Given the description of an element on the screen output the (x, y) to click on. 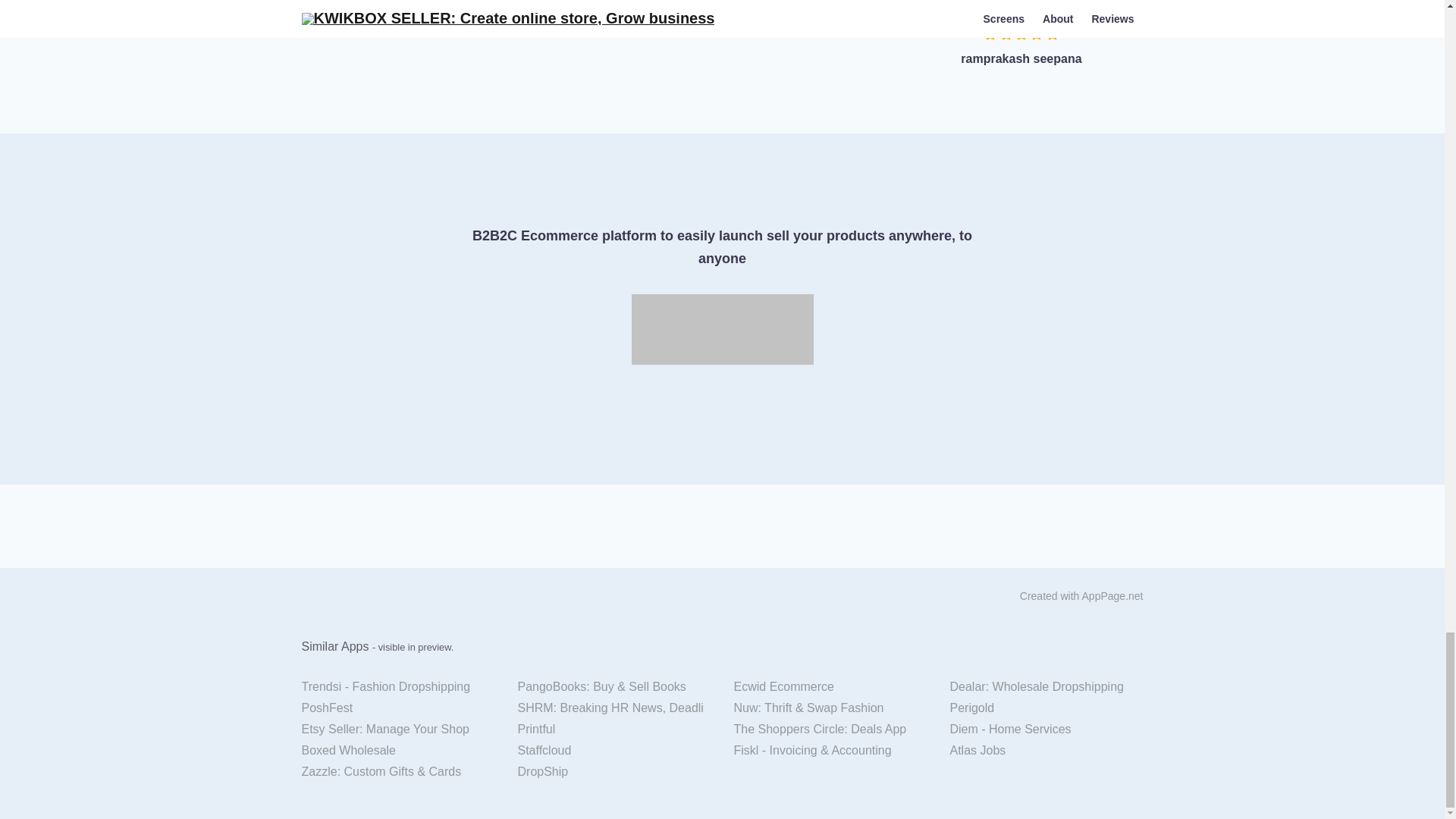
Perigold (1046, 708)
Printful (614, 729)
Boxed Wholesale (397, 750)
Ecwid Ecommerce (829, 686)
Diem - Home Services (1046, 729)
The Shoppers Circle: Deals App (829, 729)
Staffcloud (614, 750)
AppPage.net (1111, 595)
Atlas Jobs (1046, 750)
Trendsi - Fashion Dropshipping (397, 686)
